Given the description of an element on the screen output the (x, y) to click on. 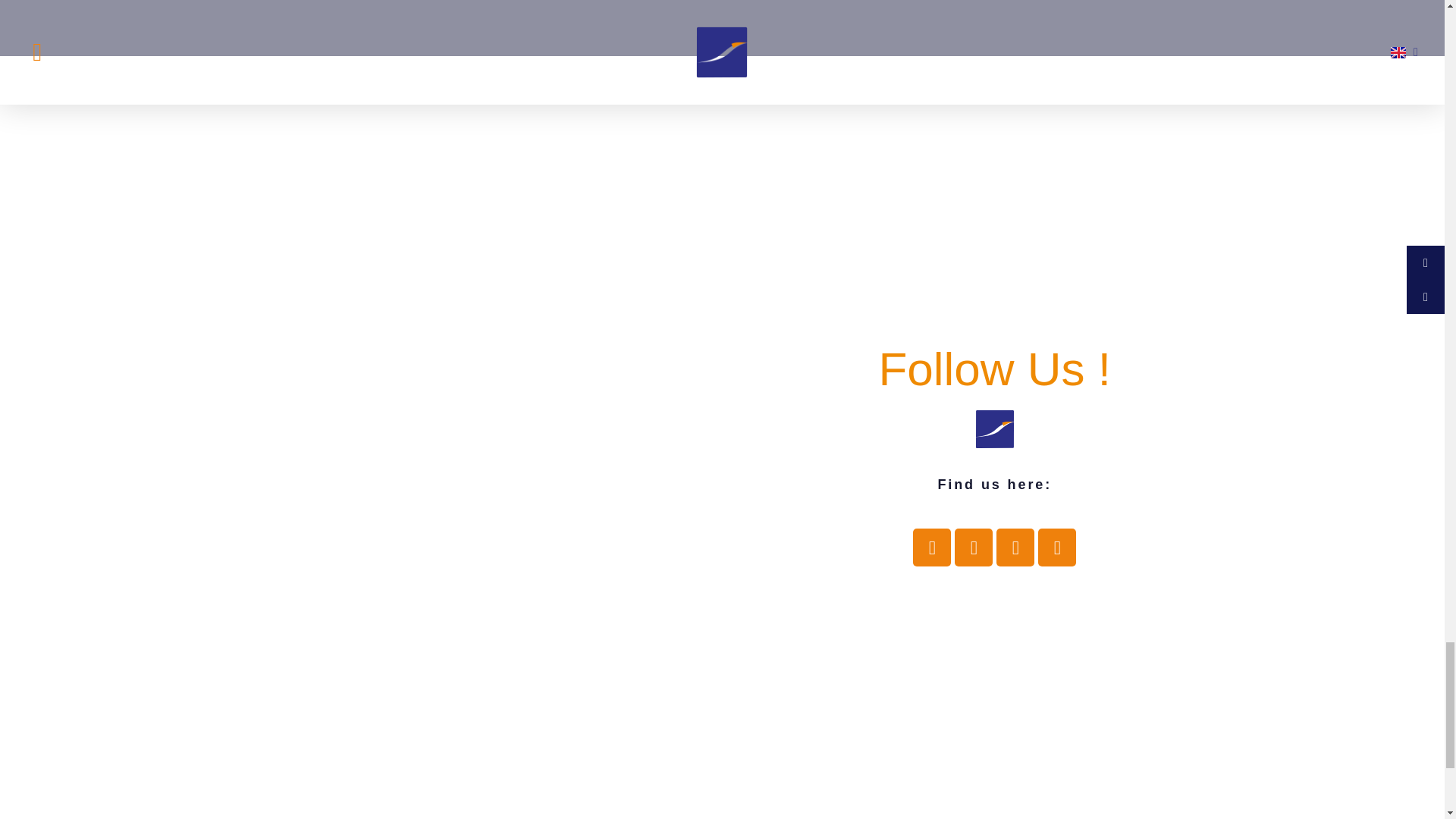
Linkedin (1056, 547)
Facebook (931, 547)
Youtube (973, 547)
Instagram (1014, 547)
